Given the description of an element on the screen output the (x, y) to click on. 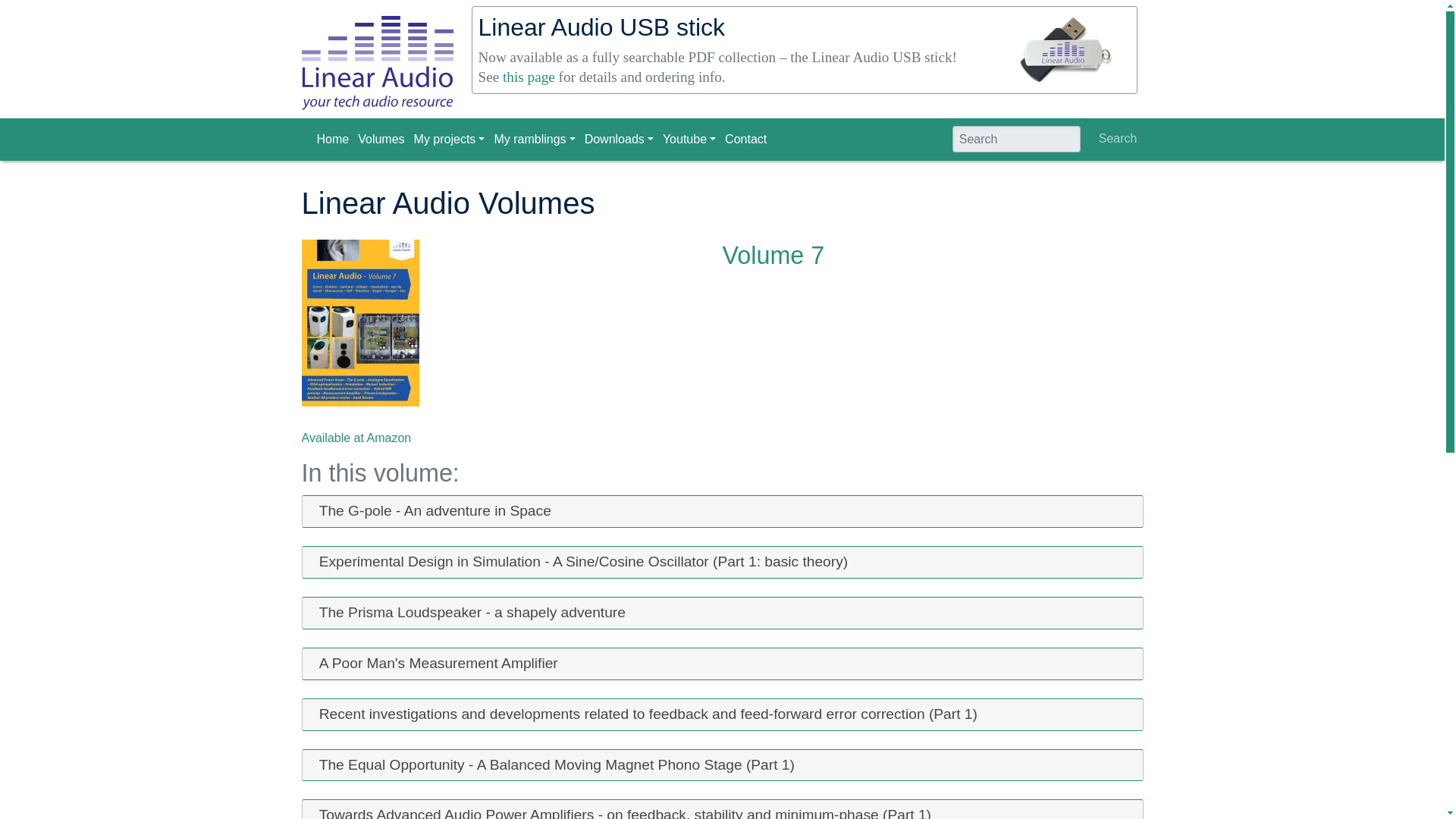
Home (334, 139)
My projects (451, 139)
Downloads (619, 139)
Search (1117, 138)
Enter the terms you wish to search for. (1016, 139)
this page (528, 76)
Volumes (382, 139)
My ramblings (535, 139)
